Given the description of an element on the screen output the (x, y) to click on. 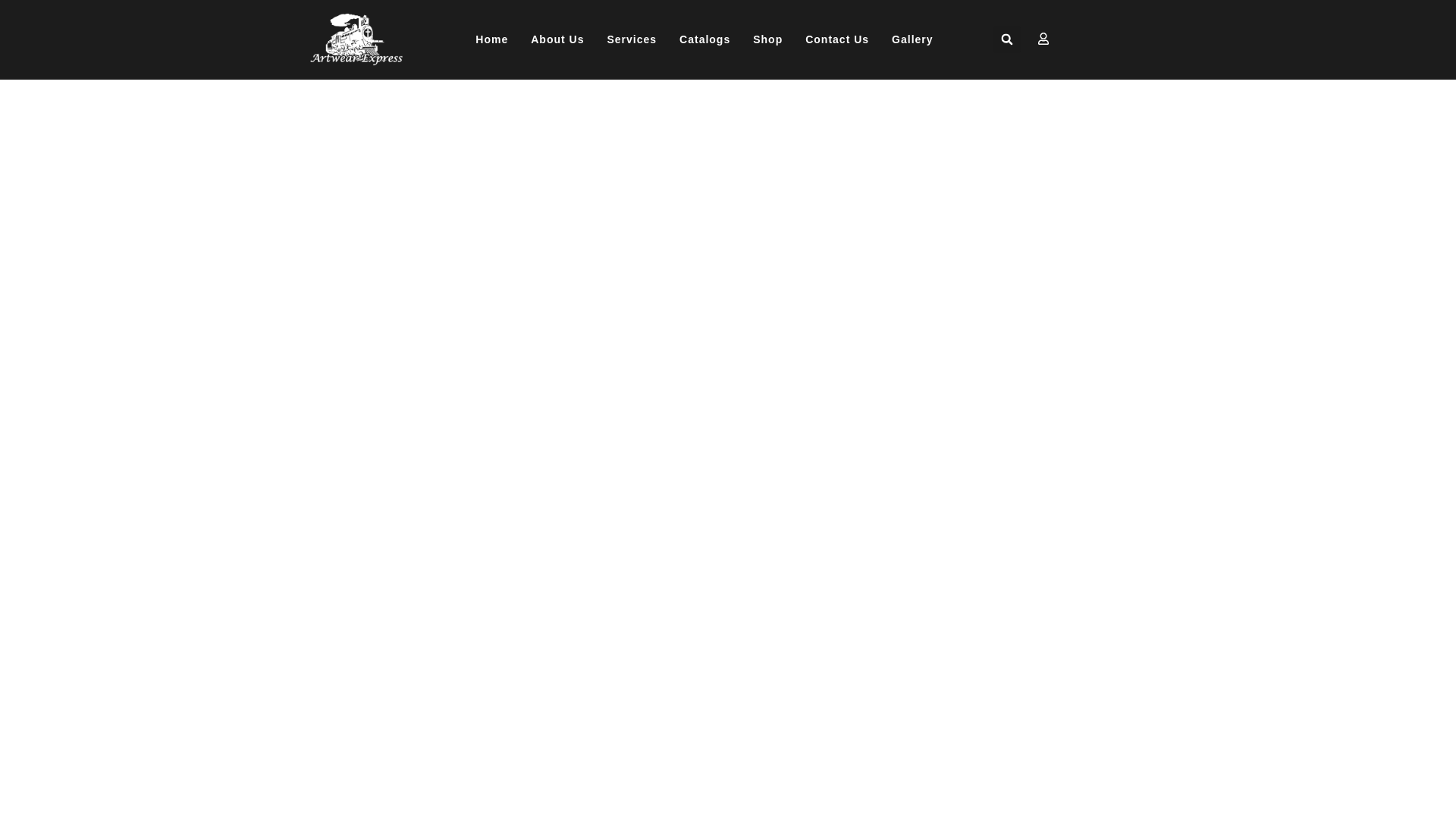
Catalogs (704, 39)
Shop (767, 39)
Contact Us (836, 39)
About Us (557, 39)
Home (491, 39)
Services (631, 39)
Gallery (911, 39)
